Given the description of an element on the screen output the (x, y) to click on. 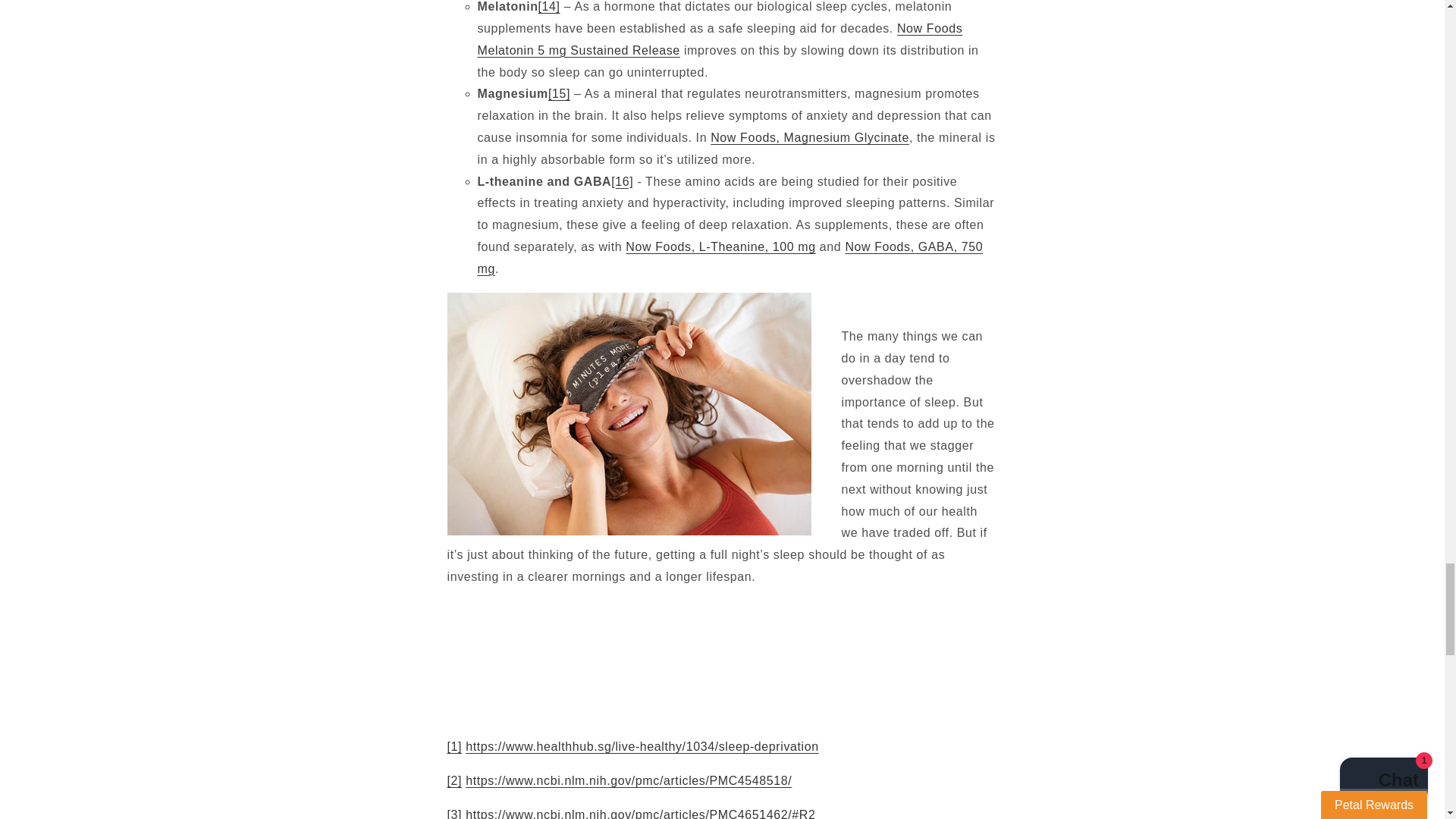
Now Foods, GABA, 750 mg (730, 257)
Now Foods Melatonin 5 mg Sustained Release (719, 39)
Now Foods, L-Theanine, 100 mg (720, 246)
Now Foods, Magnesium Glycinat (805, 137)
